Given the description of an element on the screen output the (x, y) to click on. 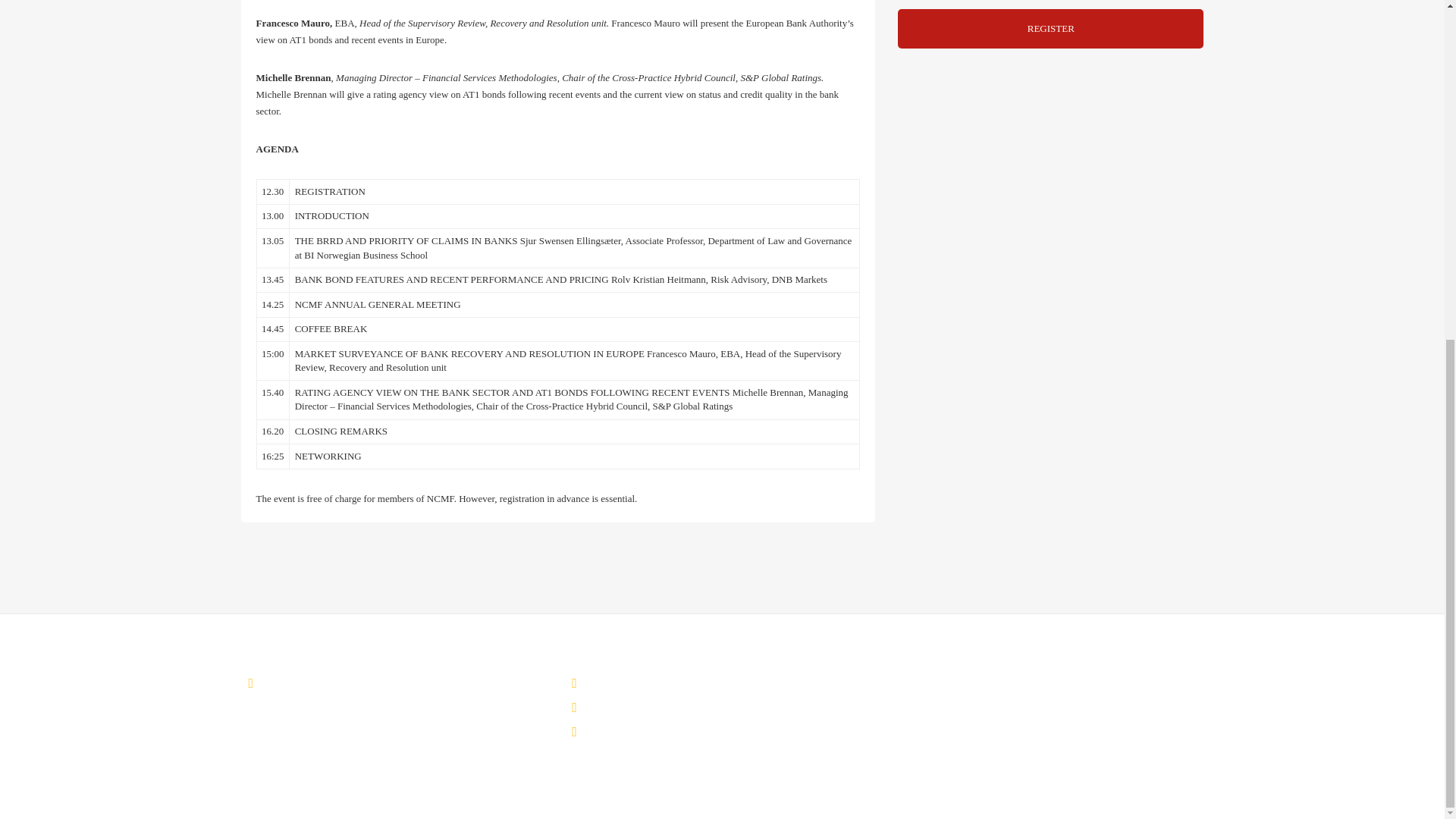
Terms of Use (620, 731)
NORDIC CAPITAL MARKETS FORUM (354, 682)
